Given the description of an element on the screen output the (x, y) to click on. 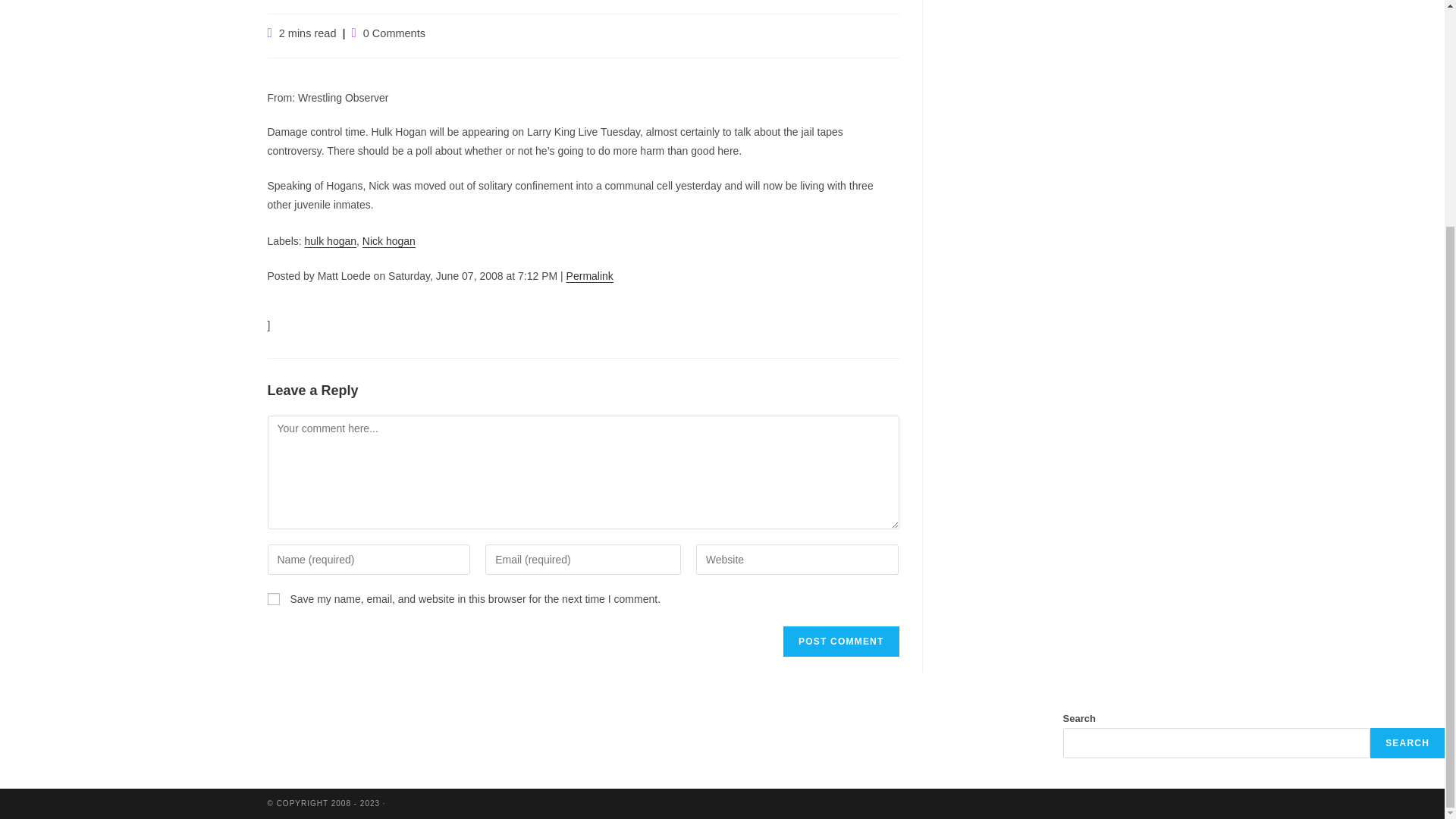
Nick hogan (388, 241)
Post Comment (840, 641)
0 Comments (393, 33)
yes (272, 598)
Post Comment (840, 641)
Permalink (589, 275)
hulk hogan (330, 241)
